Given the description of an element on the screen output the (x, y) to click on. 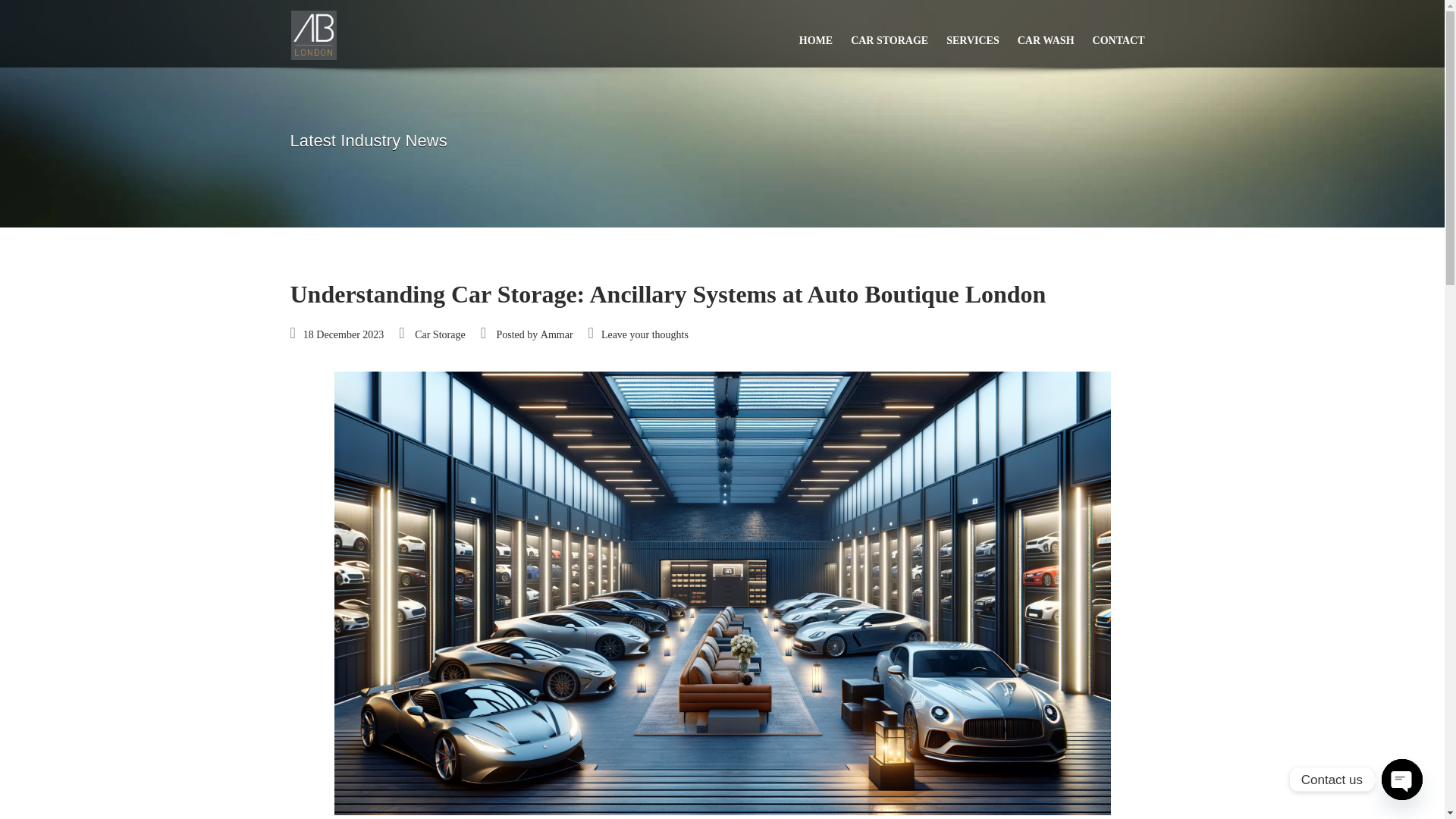
Posts by Ammar (556, 334)
Ammar (556, 334)
Car Storage (439, 334)
Leave your thoughts (644, 334)
CONTACT (1118, 33)
SERVICES (973, 33)
CAR STORAGE (889, 33)
CAR WASH (1046, 33)
